Given the description of an element on the screen output the (x, y) to click on. 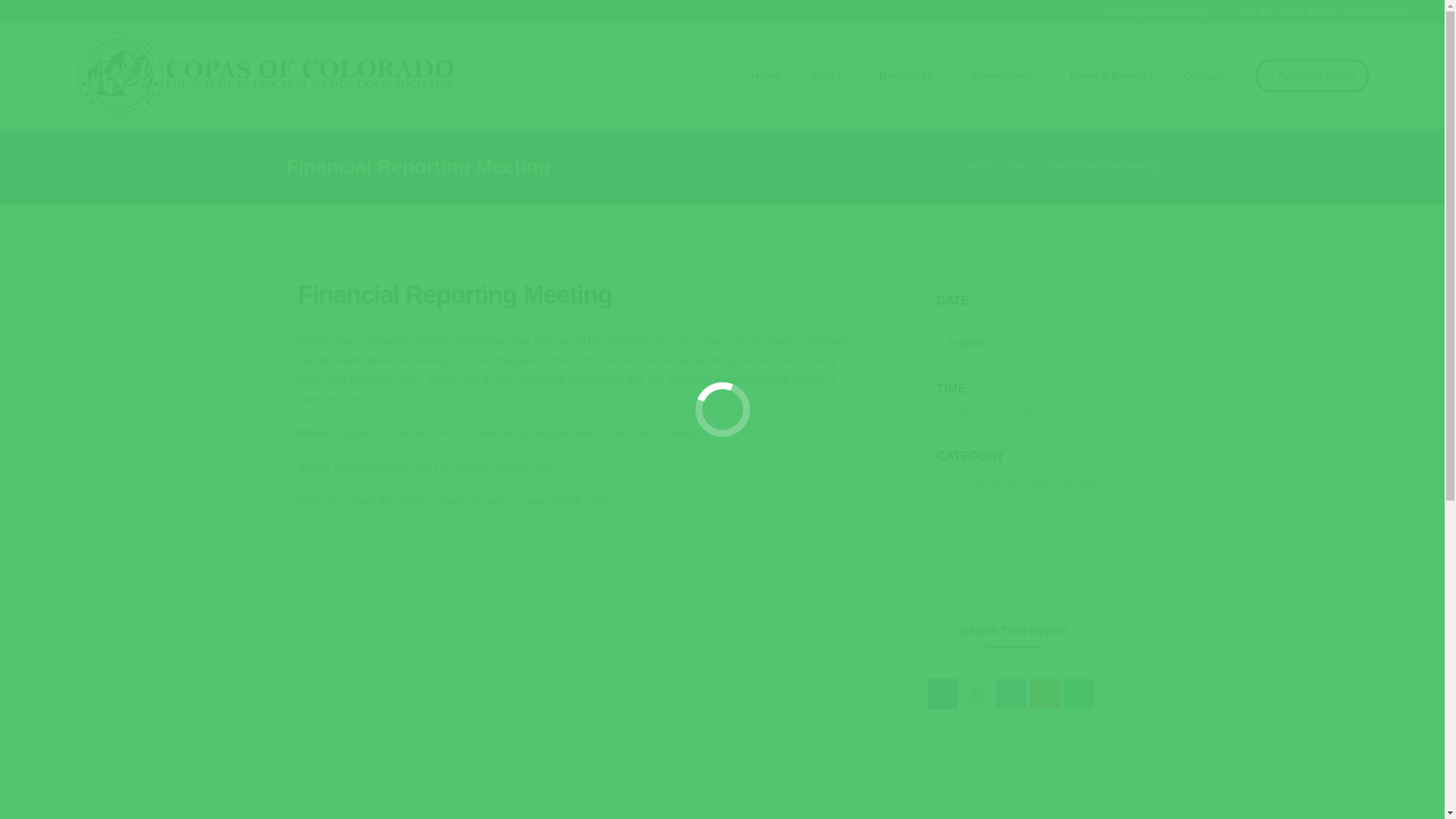
X Social Network (975, 693)
Home (765, 75)
Share on WhatsApp (1079, 693)
About (829, 75)
Share on Facebook (942, 693)
Linkedin (1010, 693)
Contact (1203, 75)
Share on Reddit (1044, 693)
Event (1017, 166)
Resources (910, 75)
